Given the description of an element on the screen output the (x, y) to click on. 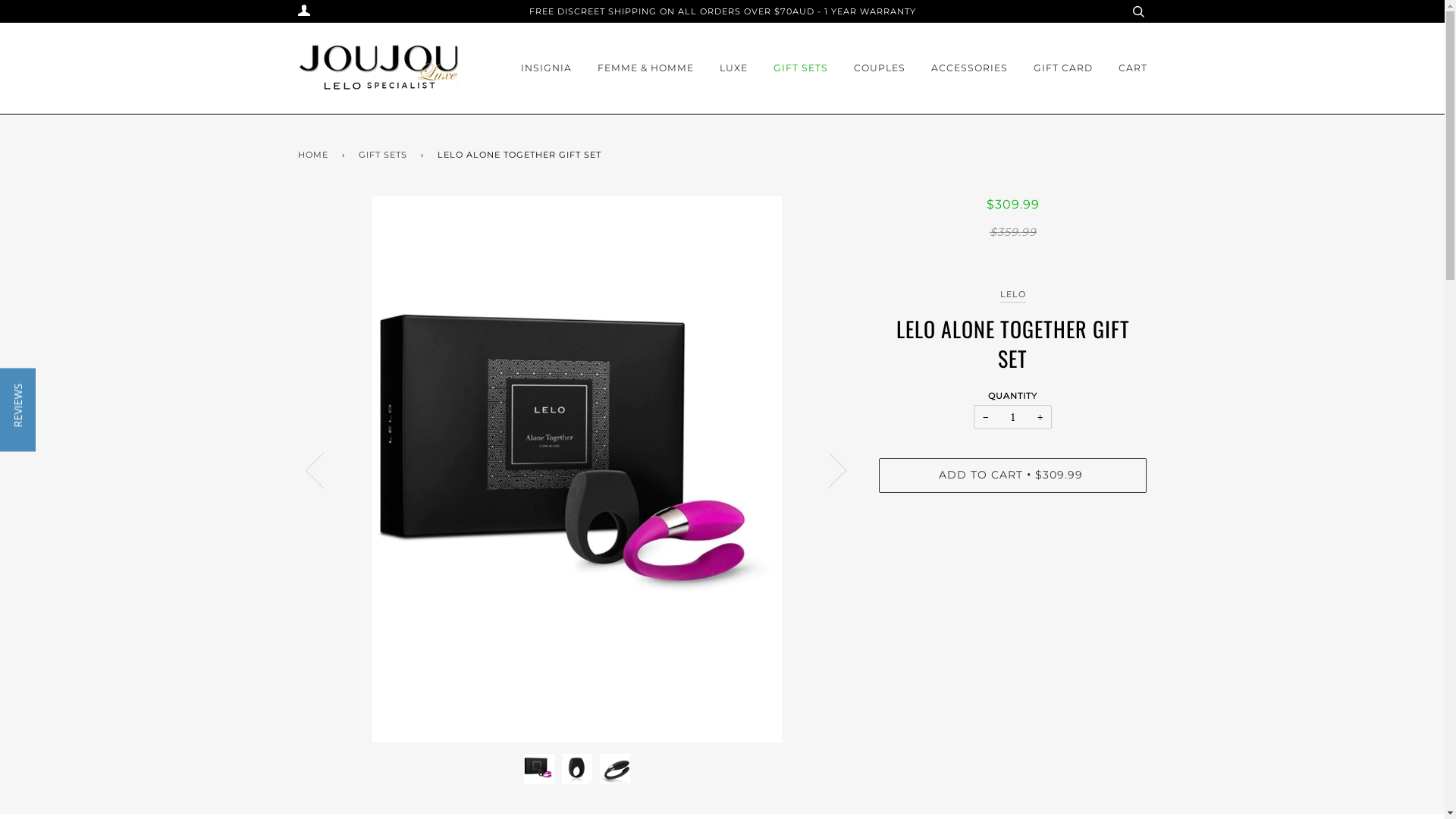
ACCESSORIES Element type: text (969, 67)
CART Element type: text (1131, 67)
LUXE Element type: text (732, 67)
LELO Element type: text (1013, 295)
Next Element type: text (828, 469)
HOME Element type: text (314, 155)
Previous Element type: text (322, 469)
GIFT SETS Element type: text (384, 155)
GIFT CARD Element type: text (1062, 67)
FEMME & HOMME Element type: text (645, 67)
INSIGNIA Element type: text (545, 67)
GIFT SETS Element type: text (800, 67)
COUPLES Element type: text (879, 67)
+ Element type: text (1039, 416)
